Given the description of an element on the screen output the (x, y) to click on. 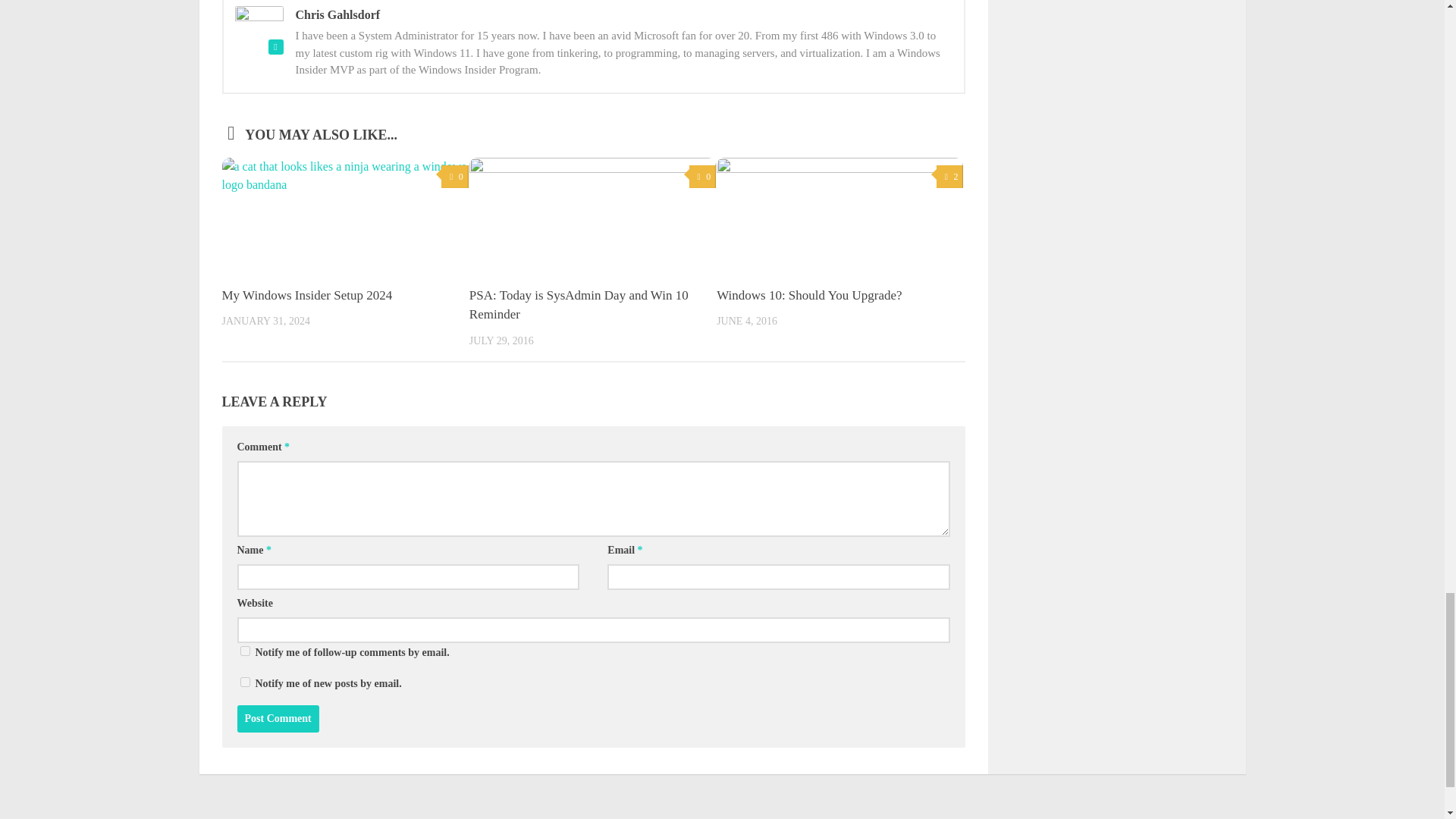
PSA: Today is SysAdmin Day and Win 10 Reminder (578, 305)
subscribe (244, 682)
0 (702, 177)
subscribe (244, 651)
0 (454, 177)
Post Comment (276, 718)
My Windows Insider Setup 2024 (306, 295)
